Given the description of an element on the screen output the (x, y) to click on. 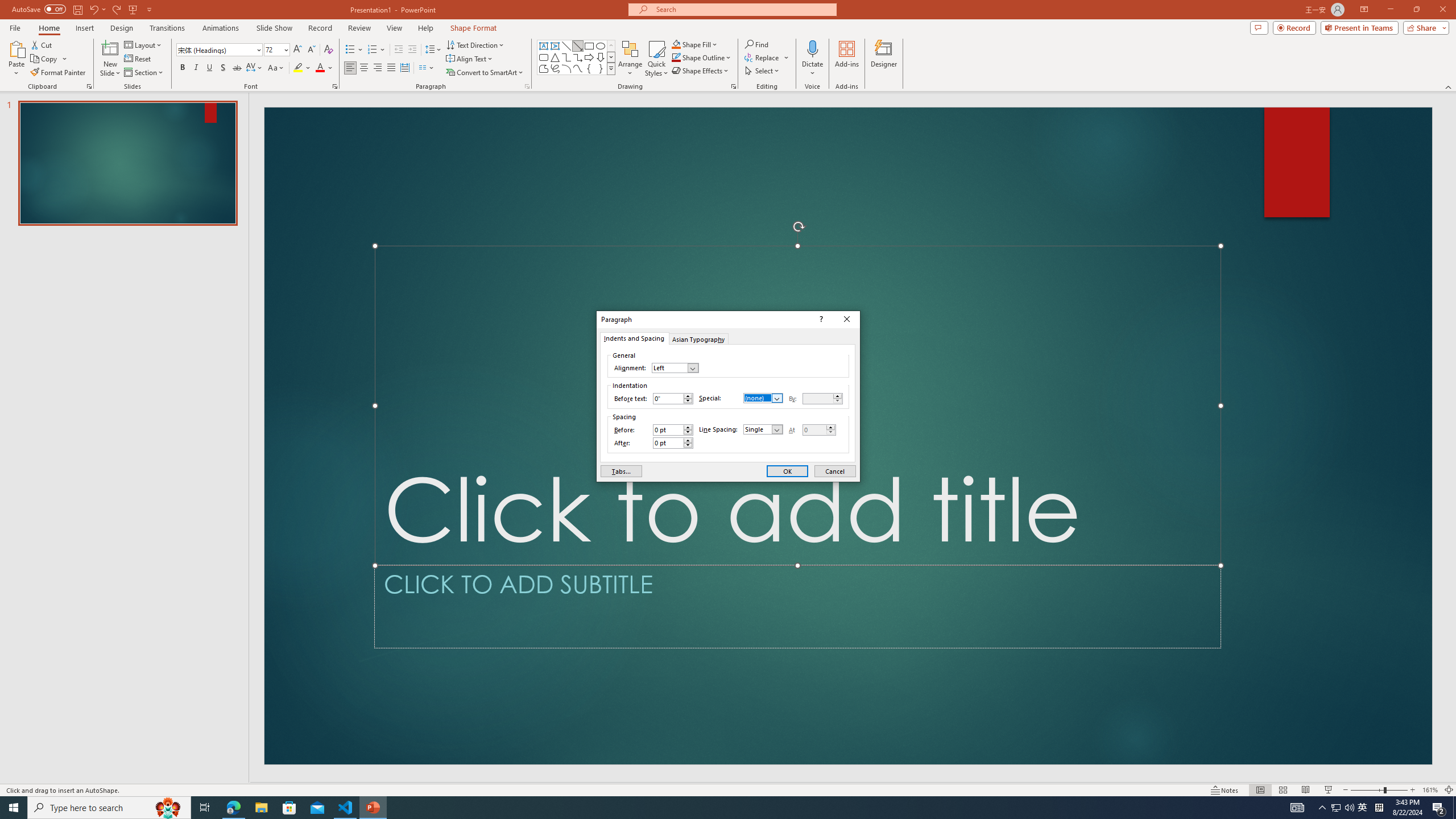
Arrow: Down (600, 57)
Distributed (404, 67)
Zoom 161% (1430, 790)
Microsoft Edge - 1 running window (233, 807)
Freeform: Scribble (554, 68)
Oval (600, 45)
Font Color (324, 67)
Cut (42, 44)
Notification Chevron (1322, 807)
